Given the description of an element on the screen output the (x, y) to click on. 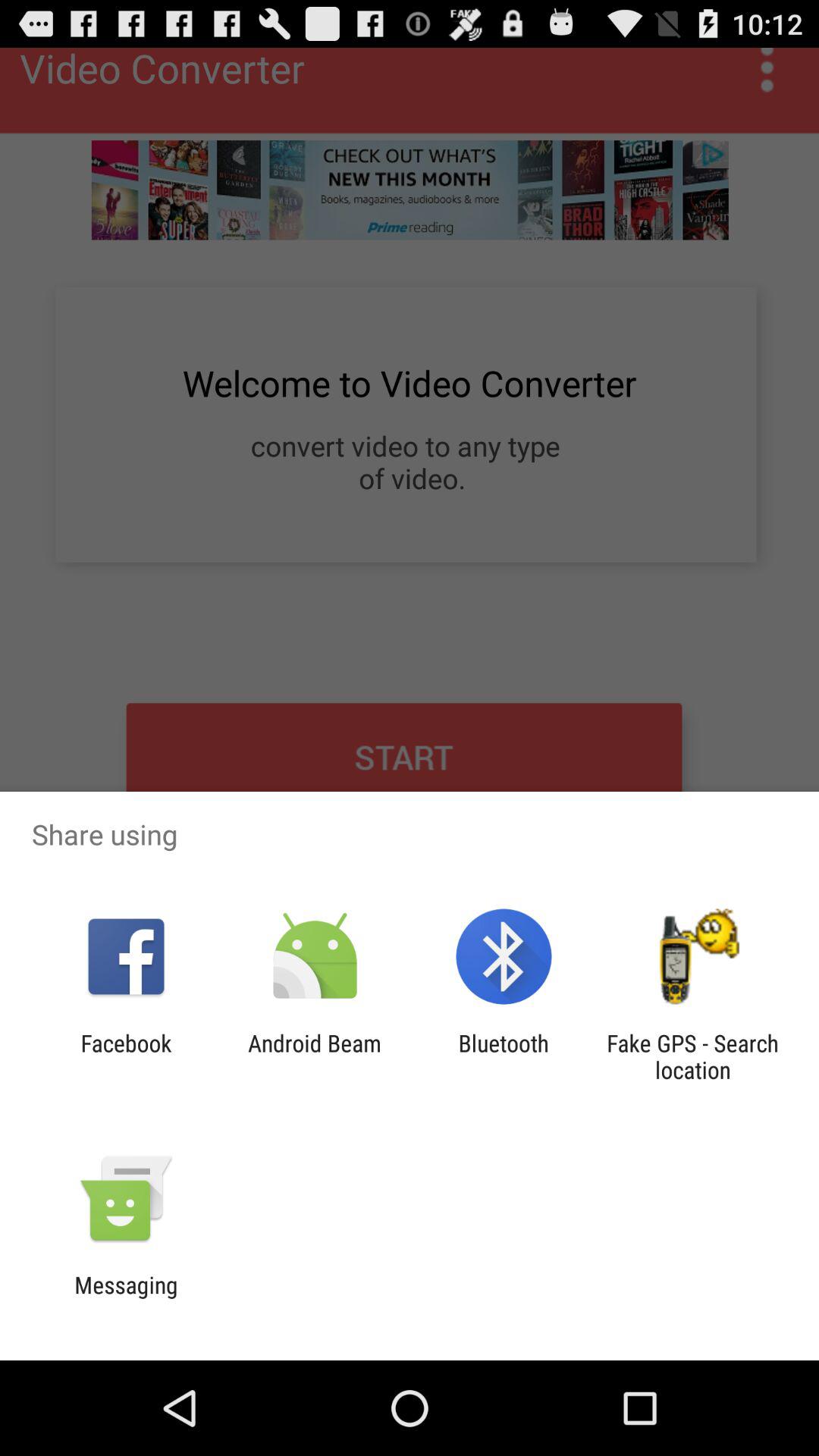
swipe until facebook app (125, 1056)
